Given the description of an element on the screen output the (x, y) to click on. 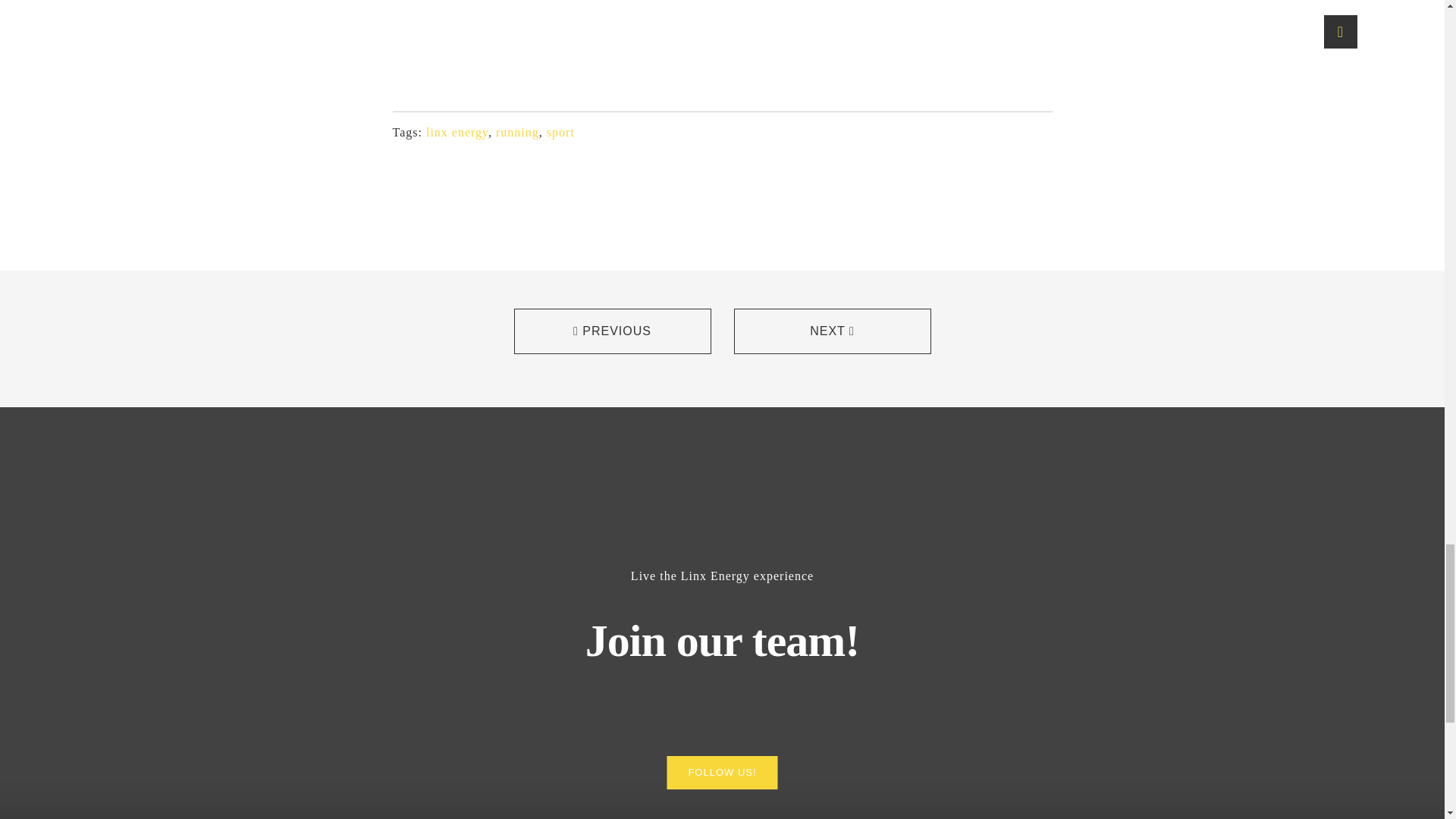
FOLLOW US! (721, 772)
linx energy (456, 132)
sport (561, 132)
PREVIOUS (612, 330)
NEXT (832, 330)
running (517, 132)
